Given the description of an element on the screen output the (x, y) to click on. 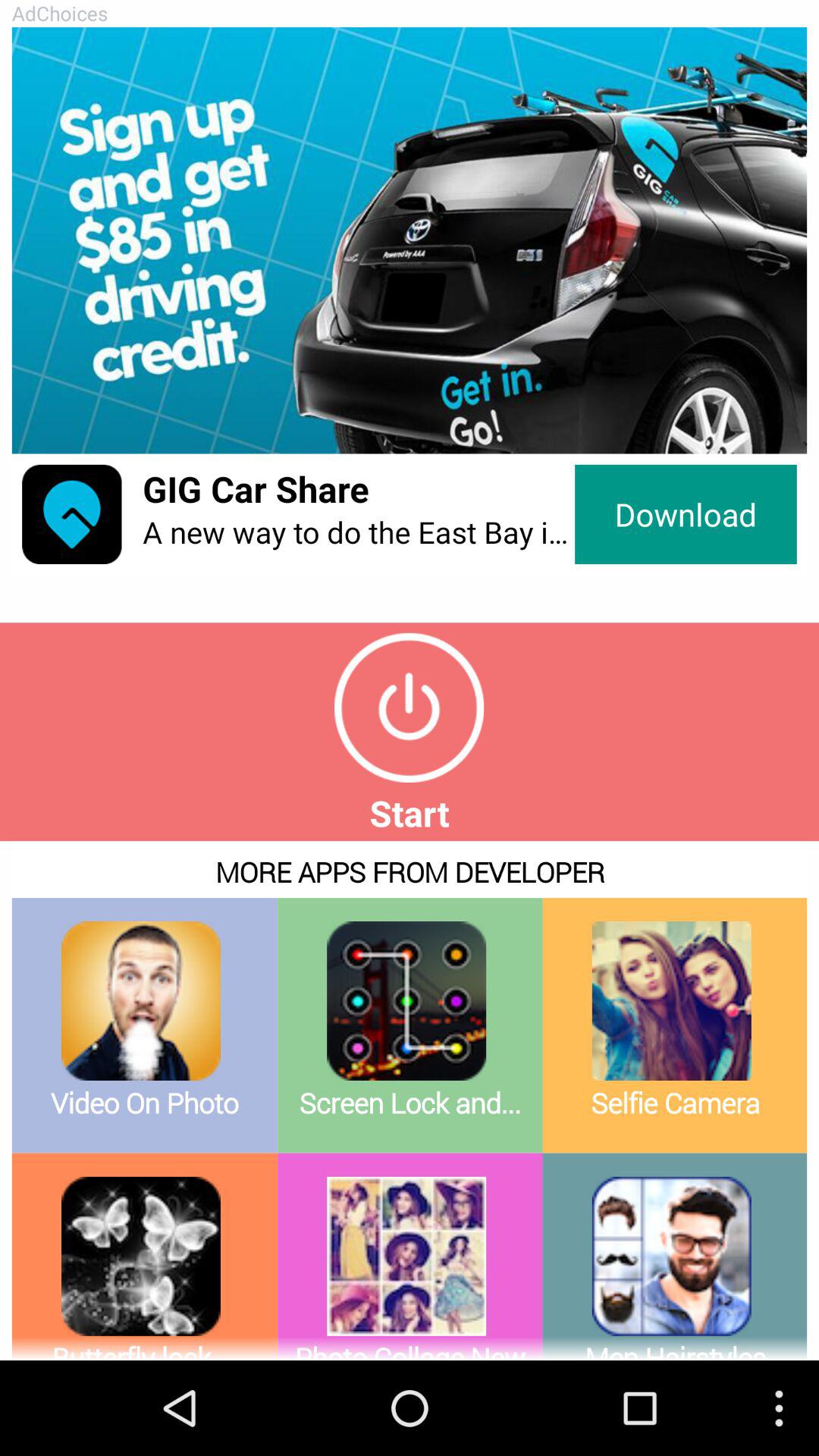
start (409, 707)
